Given the description of an element on the screen output the (x, y) to click on. 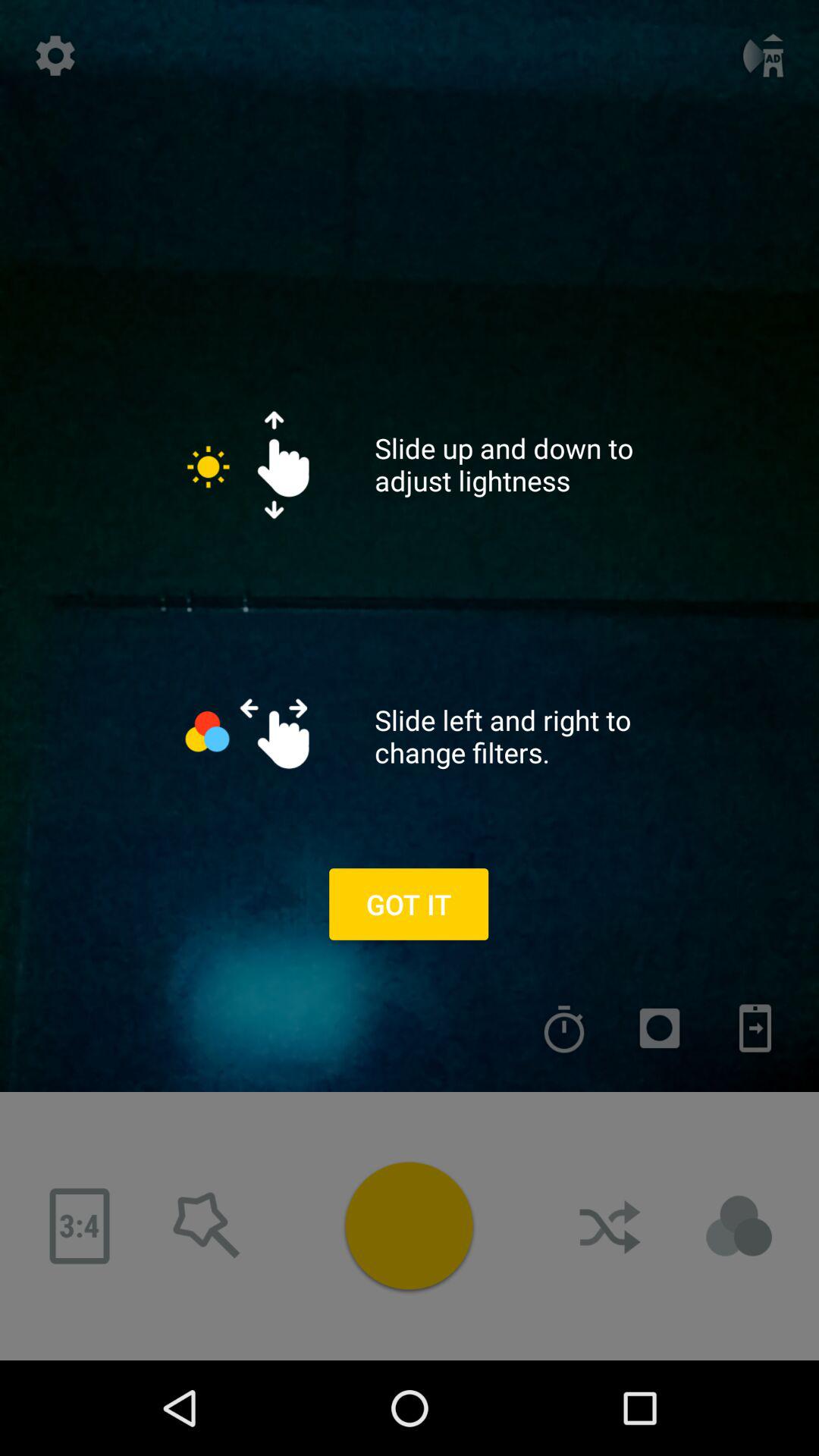
record (659, 1028)
